Given the description of an element on the screen output the (x, y) to click on. 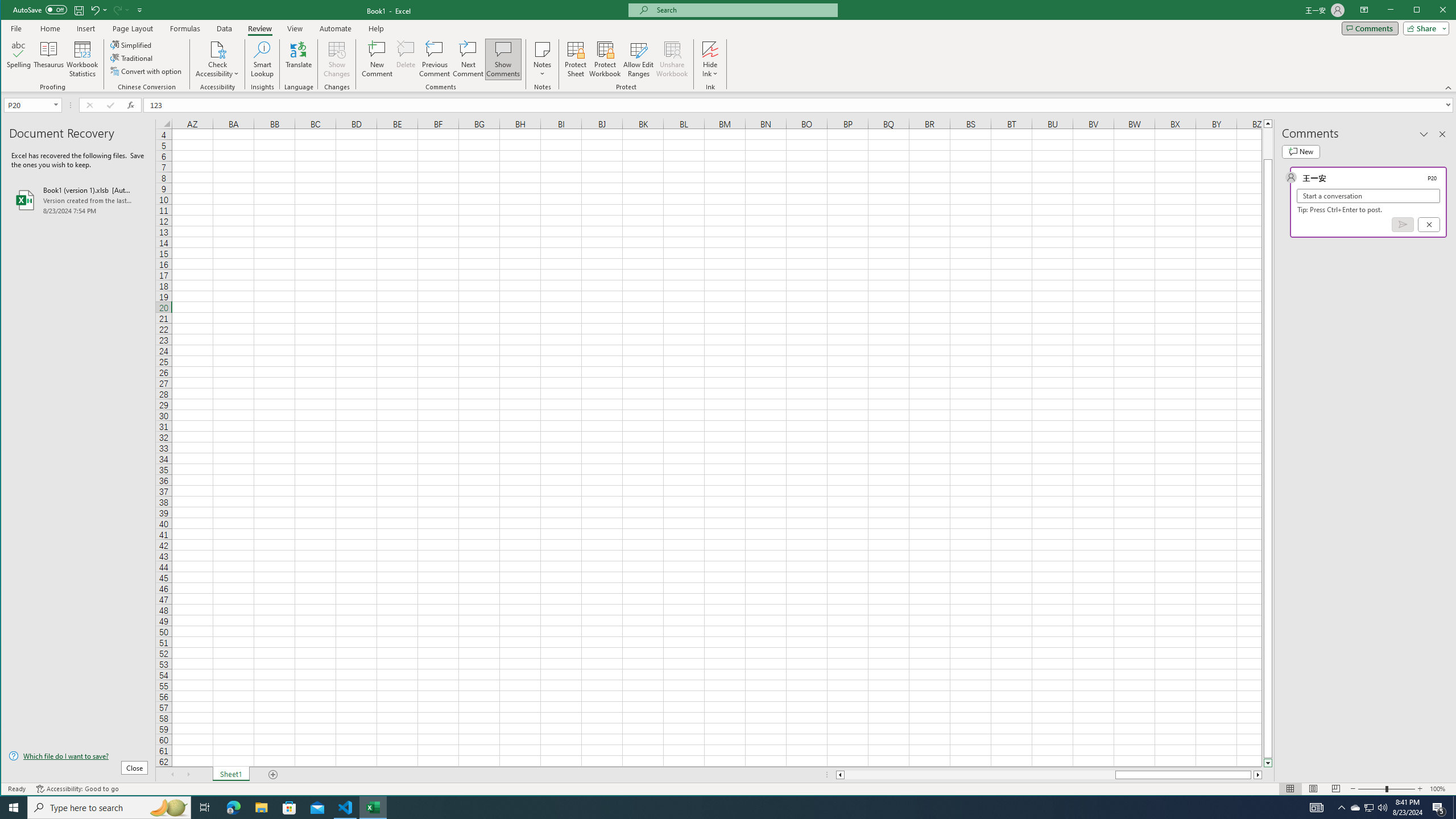
Thesaurus... (48, 59)
Hide Ink (710, 59)
Cancel (1428, 224)
Allow Edit Ranges (638, 59)
